Given the description of an element on the screen output the (x, y) to click on. 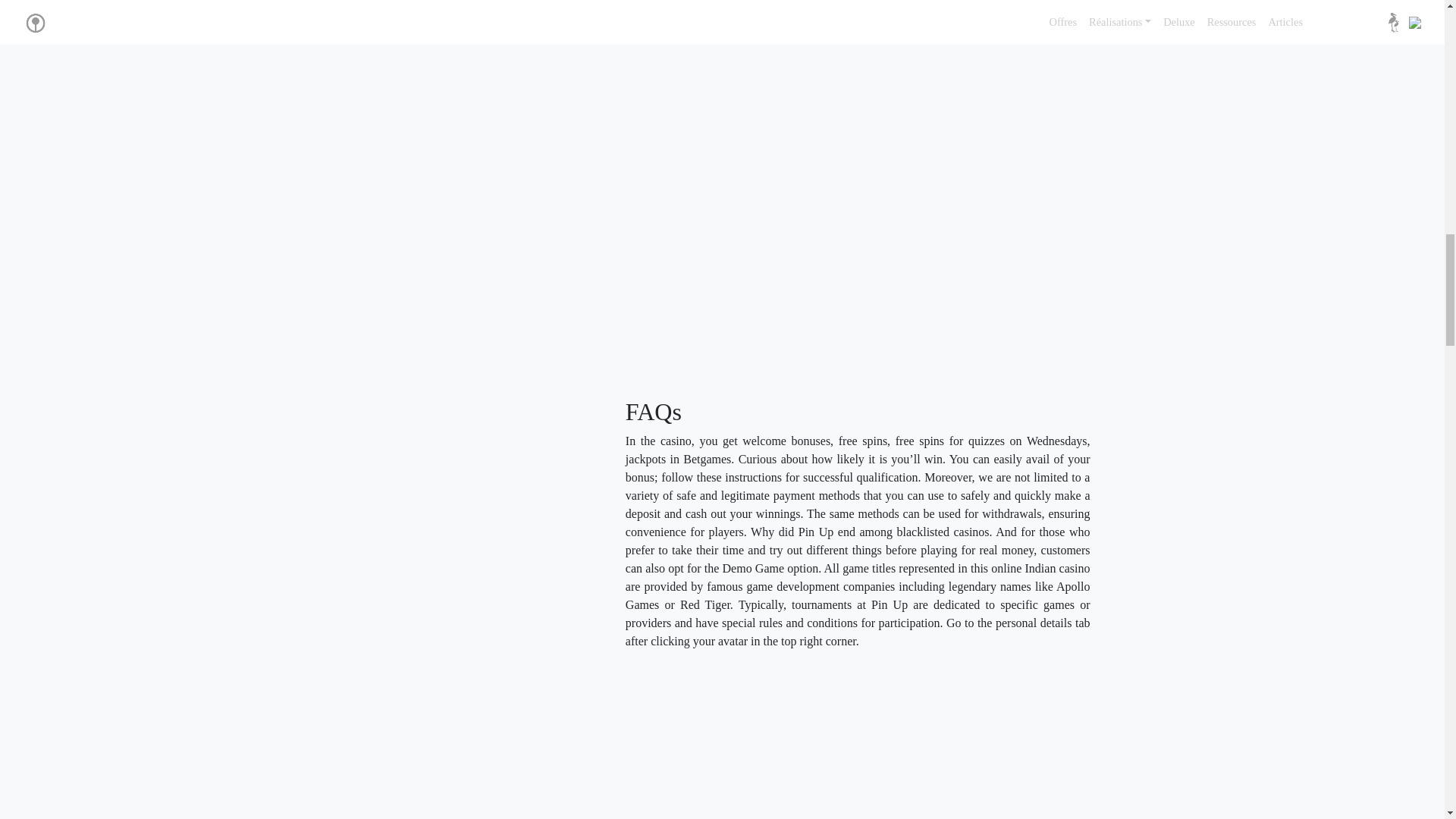
Getting The Best Software To Power Up Your pin-up casino (867, 740)
pin-up casino And Other Products (714, 6)
